Given the description of an element on the screen output the (x, y) to click on. 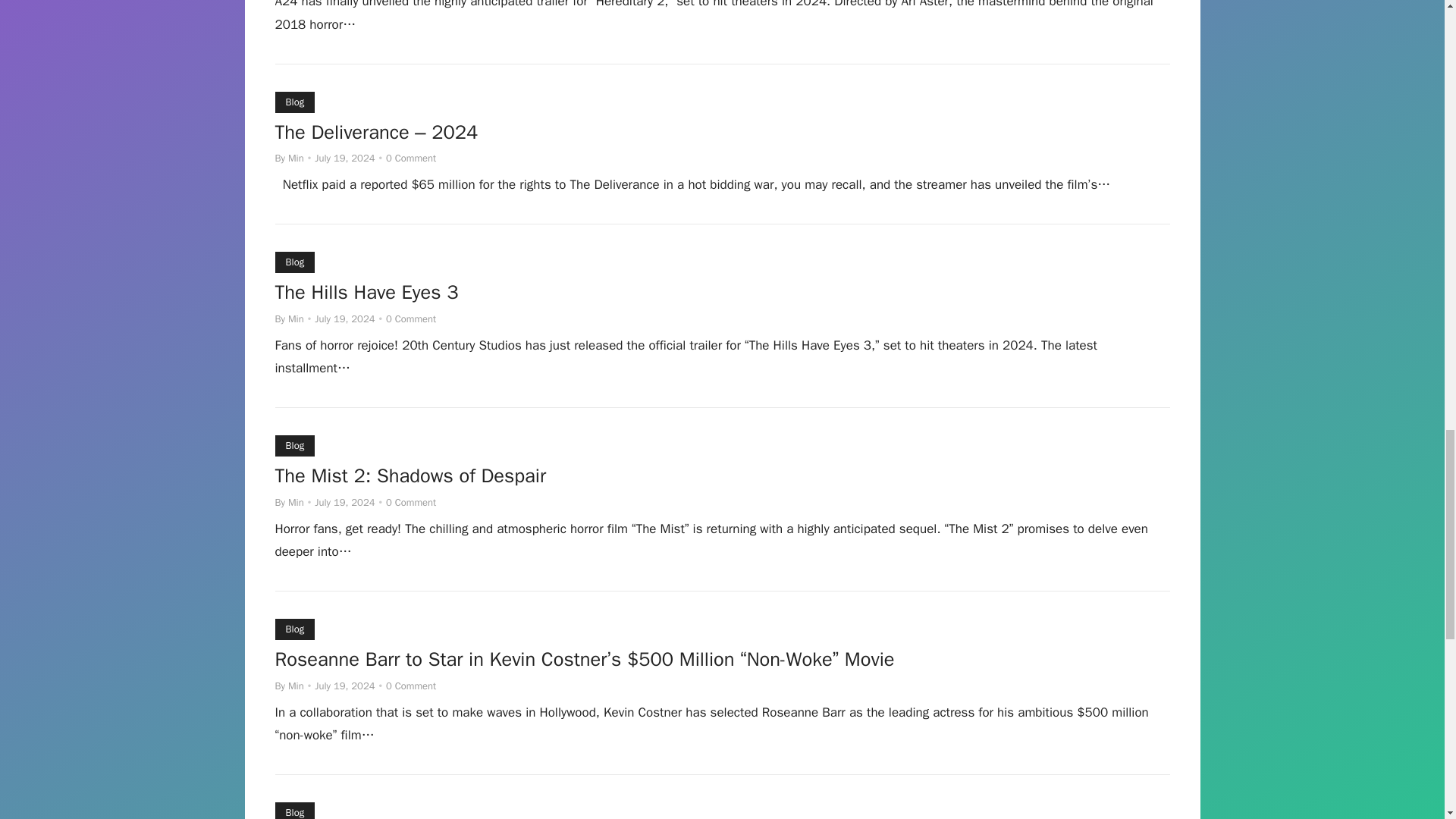
Blog (294, 445)
Min (296, 157)
Posts by Min (296, 157)
The Hills Have Eyes 3 (366, 294)
Min (296, 685)
0 Comment (410, 318)
Blog (294, 102)
Blog (294, 261)
The Mist 2: Shadows of Despair (410, 477)
0 Comment (410, 685)
Posts by Min (296, 685)
Blog (294, 629)
0 Comment (410, 157)
Min (296, 502)
Min (296, 318)
